Given the description of an element on the screen output the (x, y) to click on. 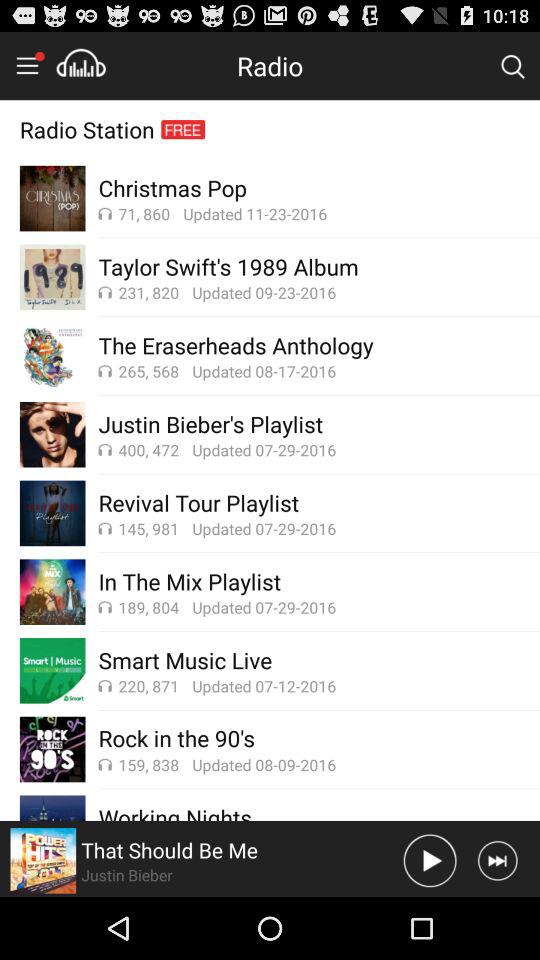
add to playlist (81, 65)
